Given the description of an element on the screen output the (x, y) to click on. 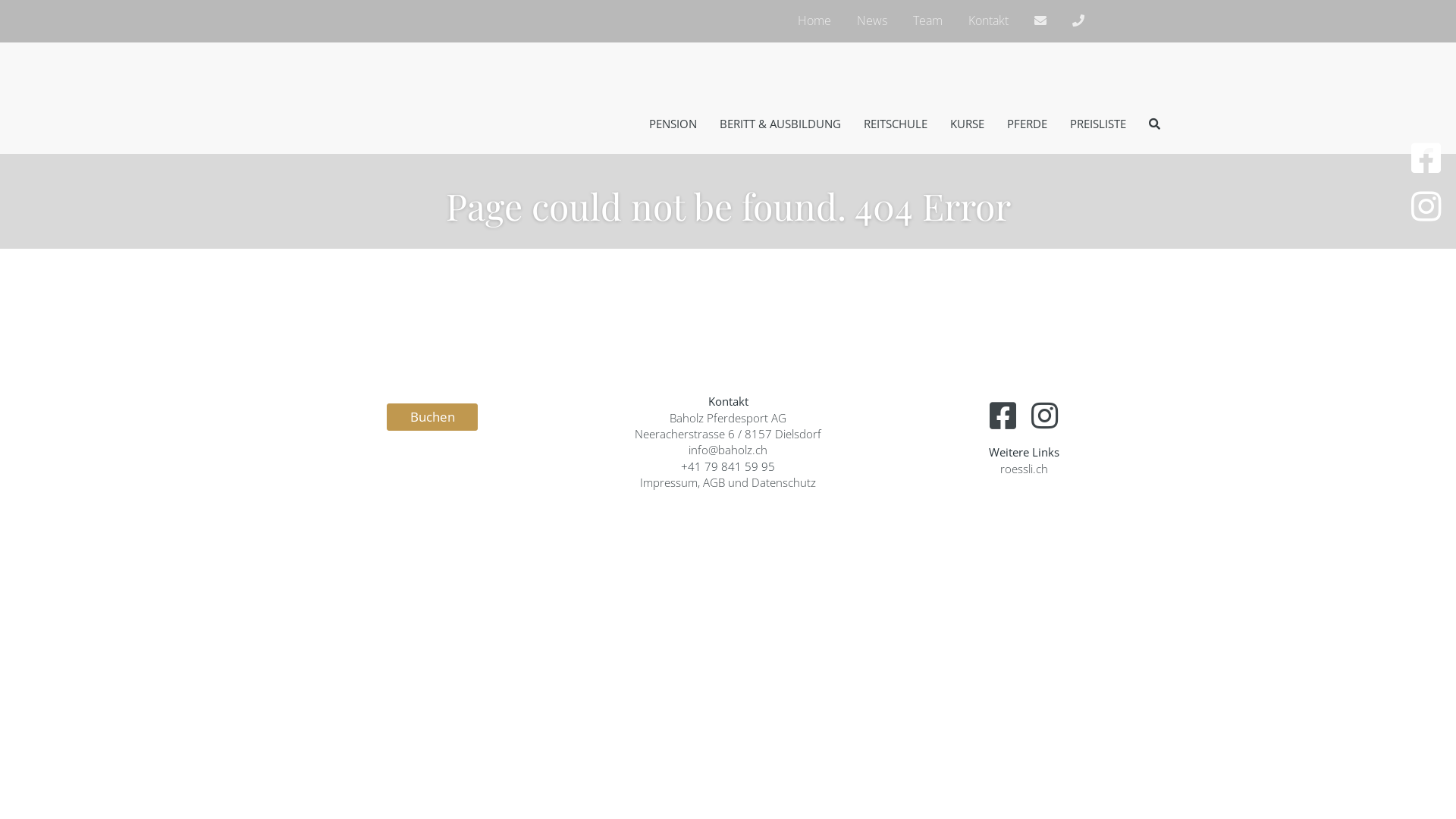
Buchen Element type: text (431, 415)
Kontakt Element type: text (988, 20)
Home Element type: text (814, 20)
News Element type: text (871, 20)
roessli.ch Element type: text (1023, 468)
info@baholz.ch Element type: text (727, 449)
BERITT & AUSBILDUNG Element type: text (779, 123)
PREISLISTE Element type: text (1098, 123)
Baholz Pferdesport AG
Neeracherstrasse 6 / 8157 Dielsdorf Element type: text (727, 425)
PENSION Element type: text (672, 123)
KURSE Element type: text (967, 123)
REITSCHULE Element type: text (895, 123)
Impressum, AGB und Datenschutz Element type: text (727, 481)
Team Element type: text (927, 20)
PFERDE Element type: text (1027, 123)
